Given the description of an element on the screen output the (x, y) to click on. 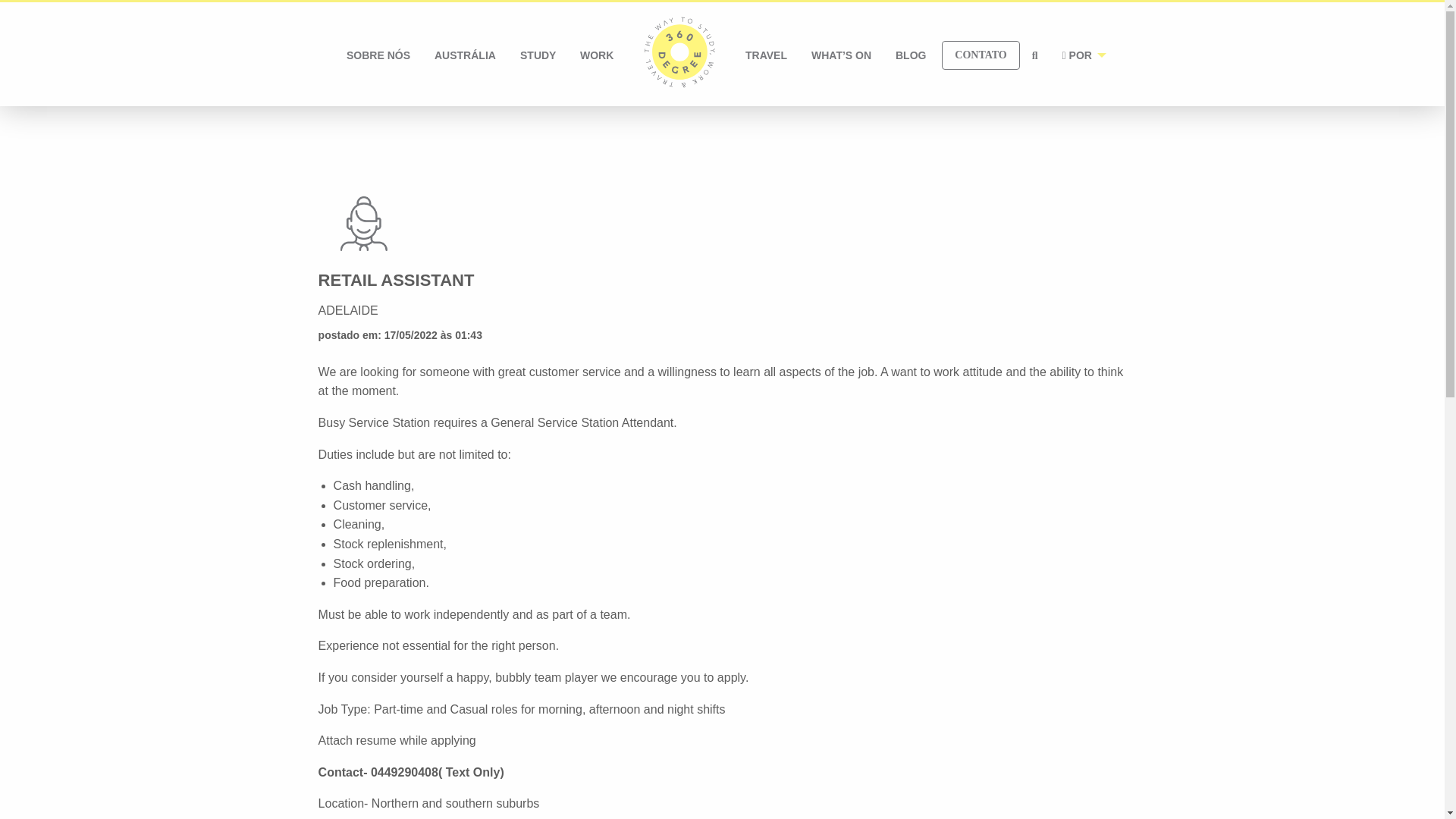
STUDY (537, 54)
Pesquise aqui (1034, 54)
CONTATO (980, 54)
TRAVEL (766, 54)
POR (1079, 54)
0 (679, 55)
WORK (596, 54)
POR (1079, 54)
BLOG (910, 54)
